Given the description of an element on the screen output the (x, y) to click on. 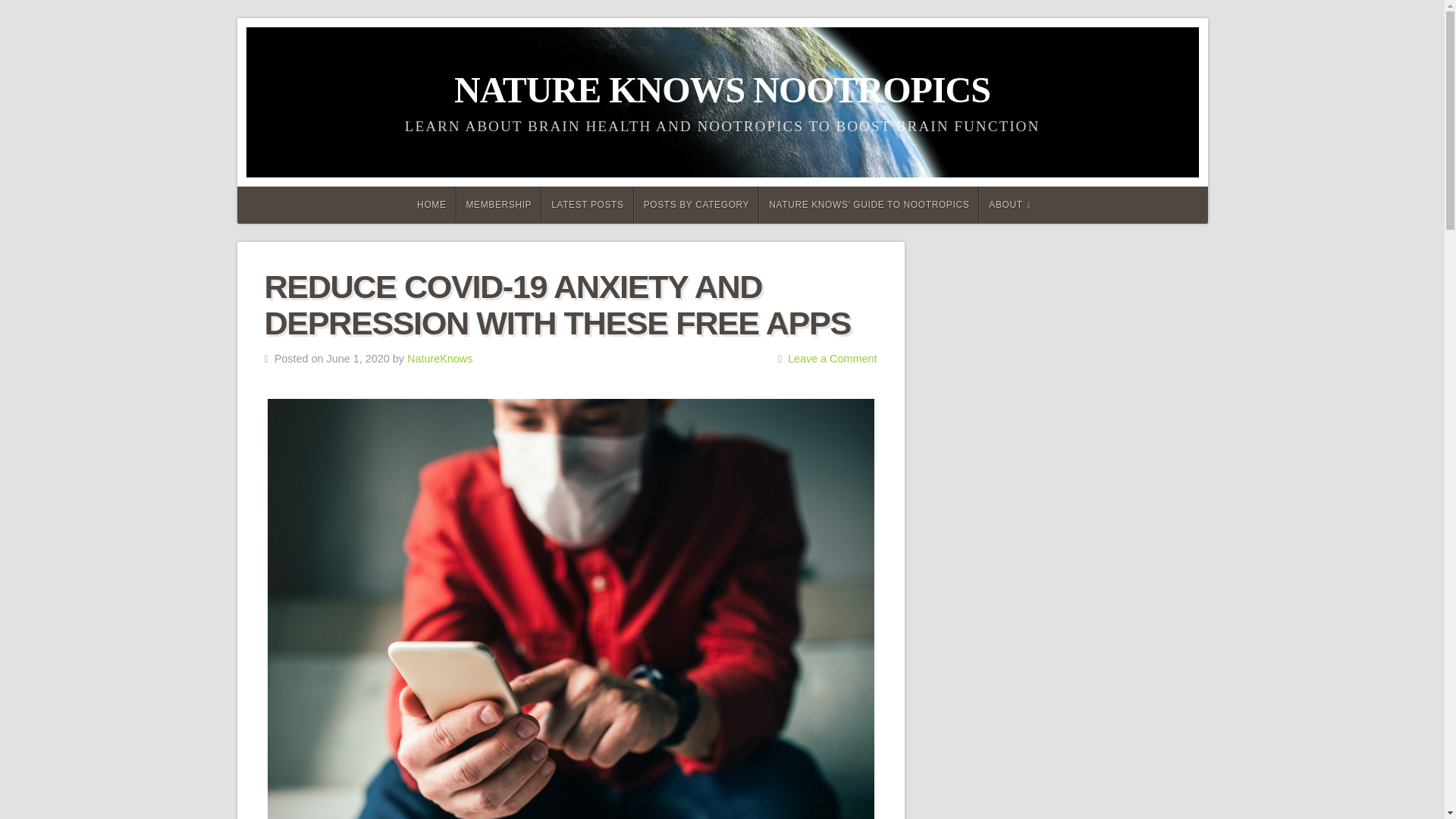
MEMBERSHIP (499, 204)
NATURE KNOWS NOOTROPICS (722, 89)
Leave a Comment (832, 357)
ABOUT (1008, 204)
LATEST POSTS (587, 204)
NatureKnows (439, 357)
HOME (429, 204)
Leave a Comment (832, 357)
Posts by NatureKnows (439, 357)
POSTS BY CATEGORY (696, 204)
